Given the description of an element on the screen output the (x, y) to click on. 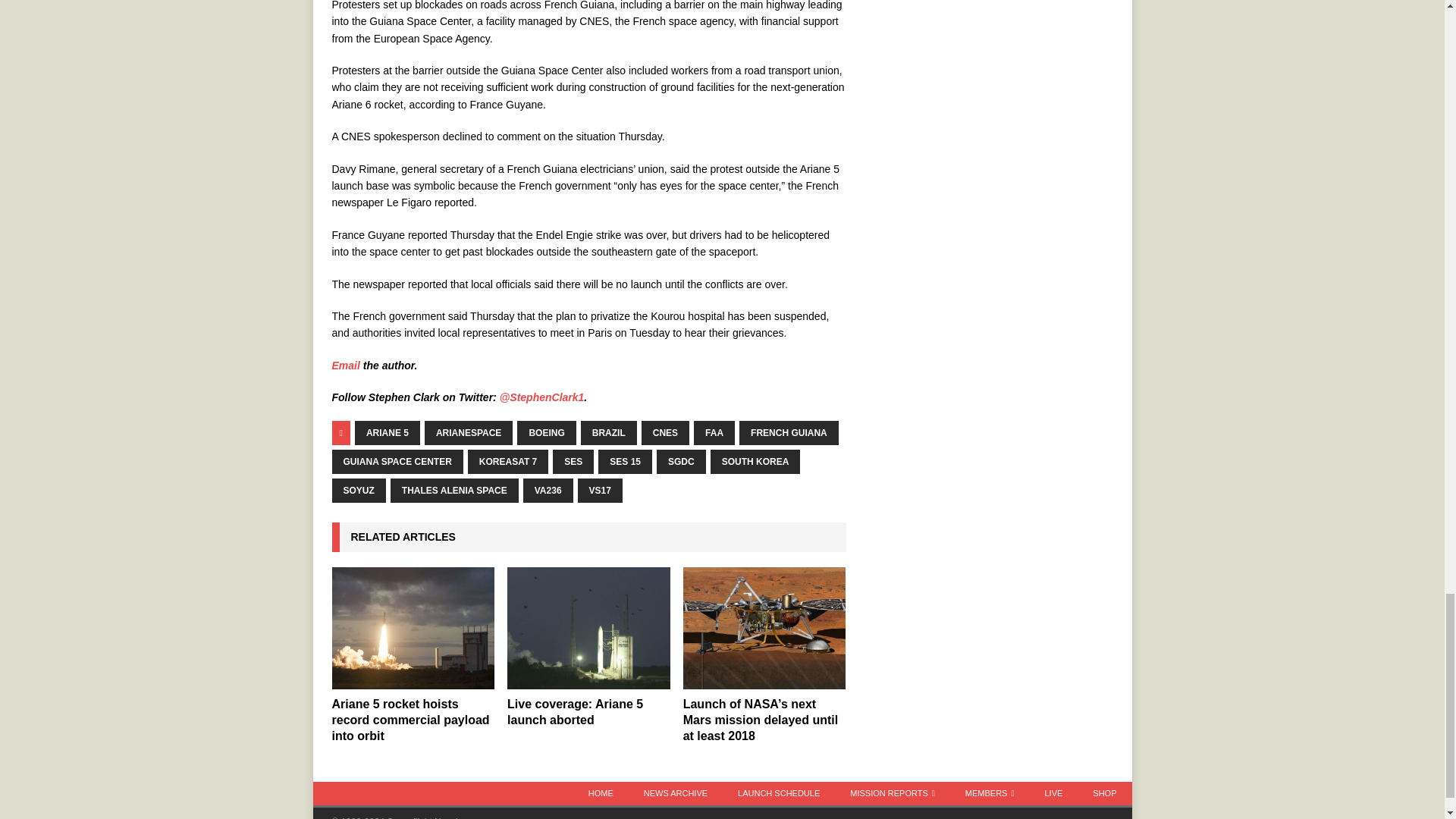
Ariane 5 rocket hoists record commercial payload into orbit (410, 719)
Live coverage: Ariane 5 launch aborted (587, 628)
Ariane 5 rocket hoists record commercial payload into orbit (413, 628)
Live coverage: Ariane 5 launch aborted (574, 711)
